Given the description of an element on the screen output the (x, y) to click on. 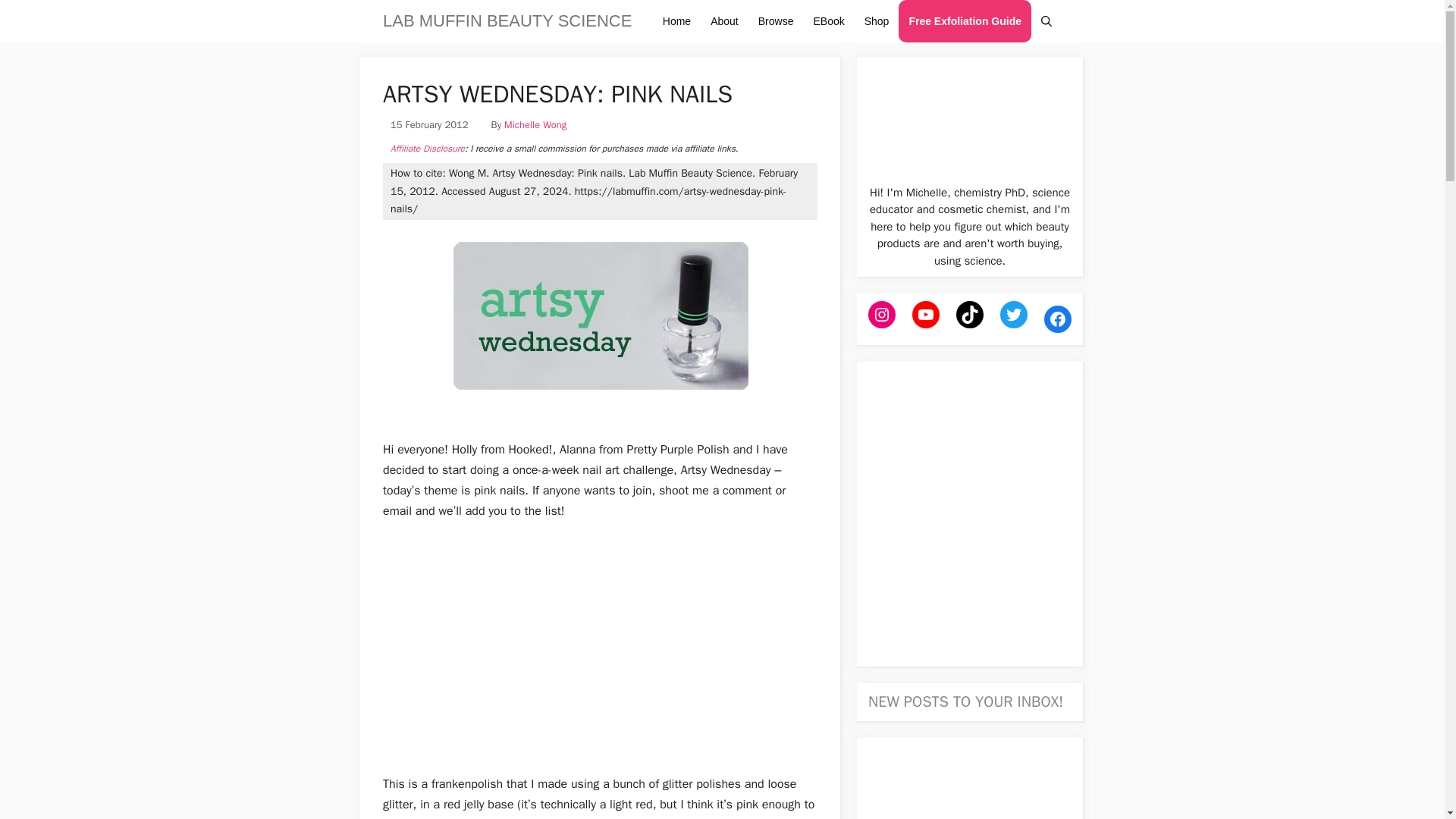
Free Exfoliation Guide (964, 21)
LAB MUFFIN BEAUTY SCIENCE (506, 21)
Michelle Wong (534, 124)
About (724, 21)
Affiliate Disclosure (427, 148)
Shop (876, 21)
EBook (828, 21)
Home (676, 21)
Browse (775, 21)
